Given the description of an element on the screen output the (x, y) to click on. 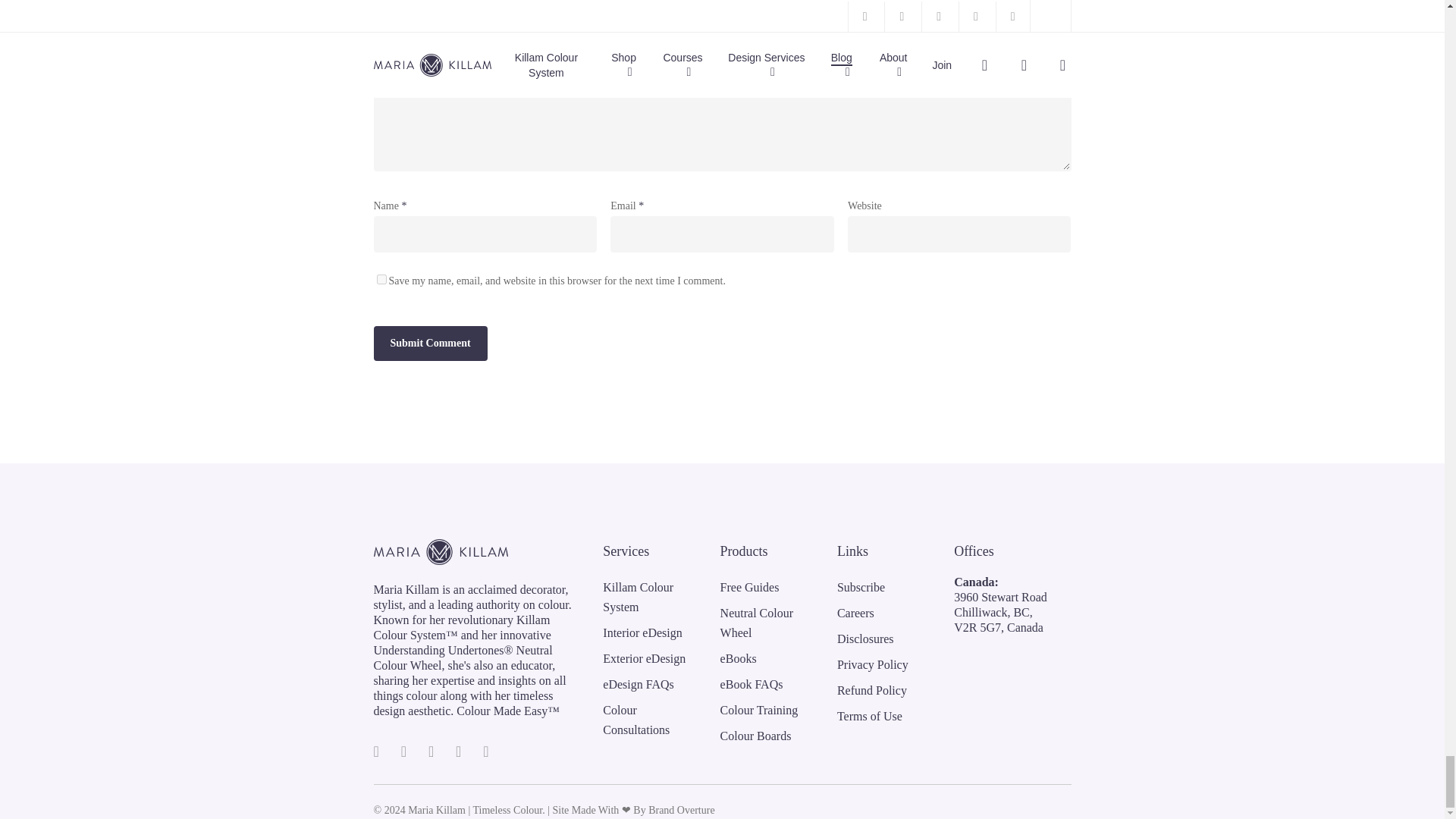
Submit Comment (429, 343)
yes (380, 279)
